Given the description of an element on the screen output the (x, y) to click on. 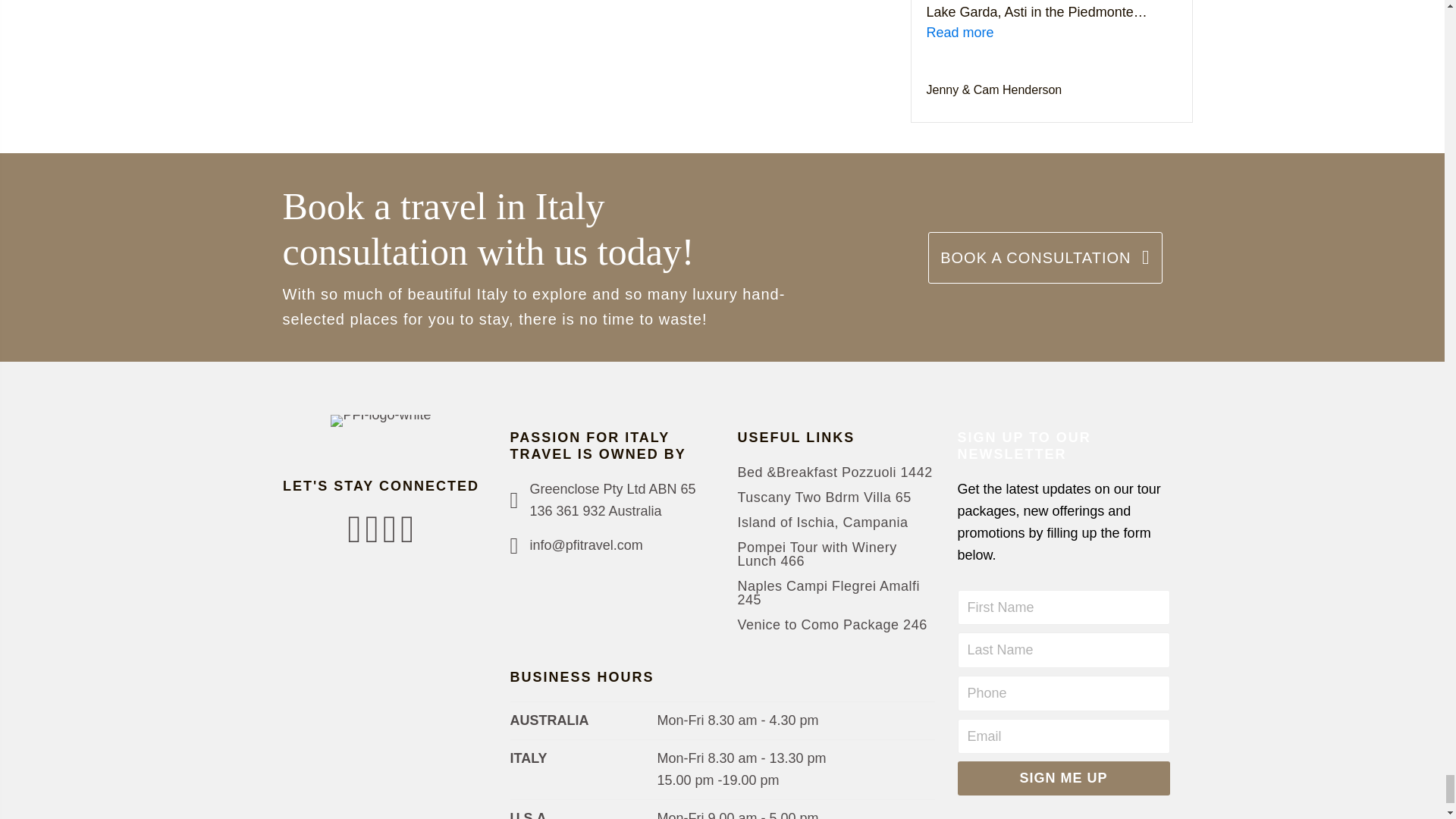
Sign me up (1062, 778)
PFI-logo-white (380, 420)
